Given the description of an element on the screen output the (x, y) to click on. 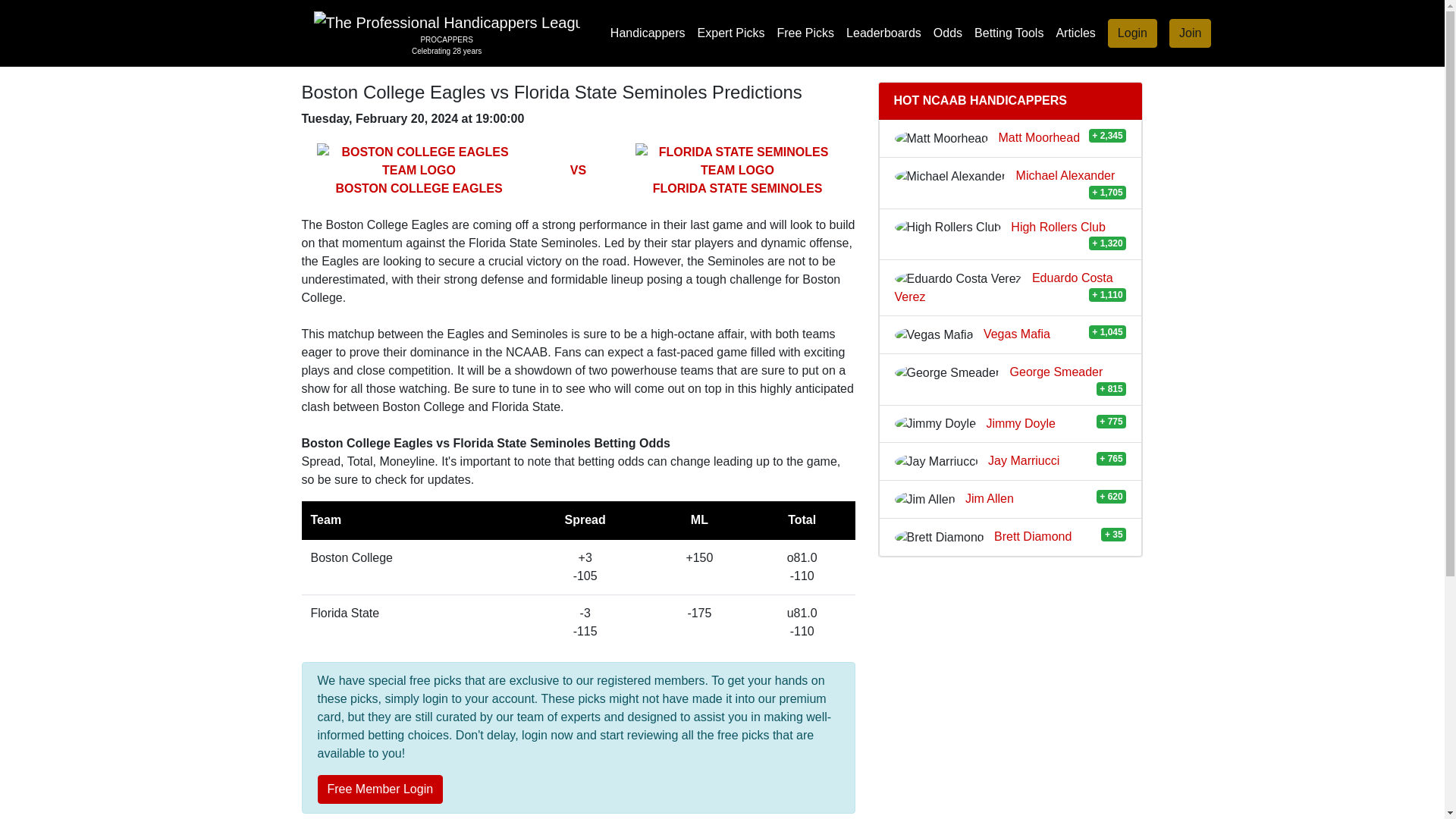
Join (1190, 33)
Betting Tools (1008, 33)
Free Member Login (446, 32)
Join (379, 788)
Free Picks (1190, 32)
Articles (805, 33)
Login (1074, 33)
Expert Picks (1132, 32)
Leaderboards (731, 33)
